Given the description of an element on the screen output the (x, y) to click on. 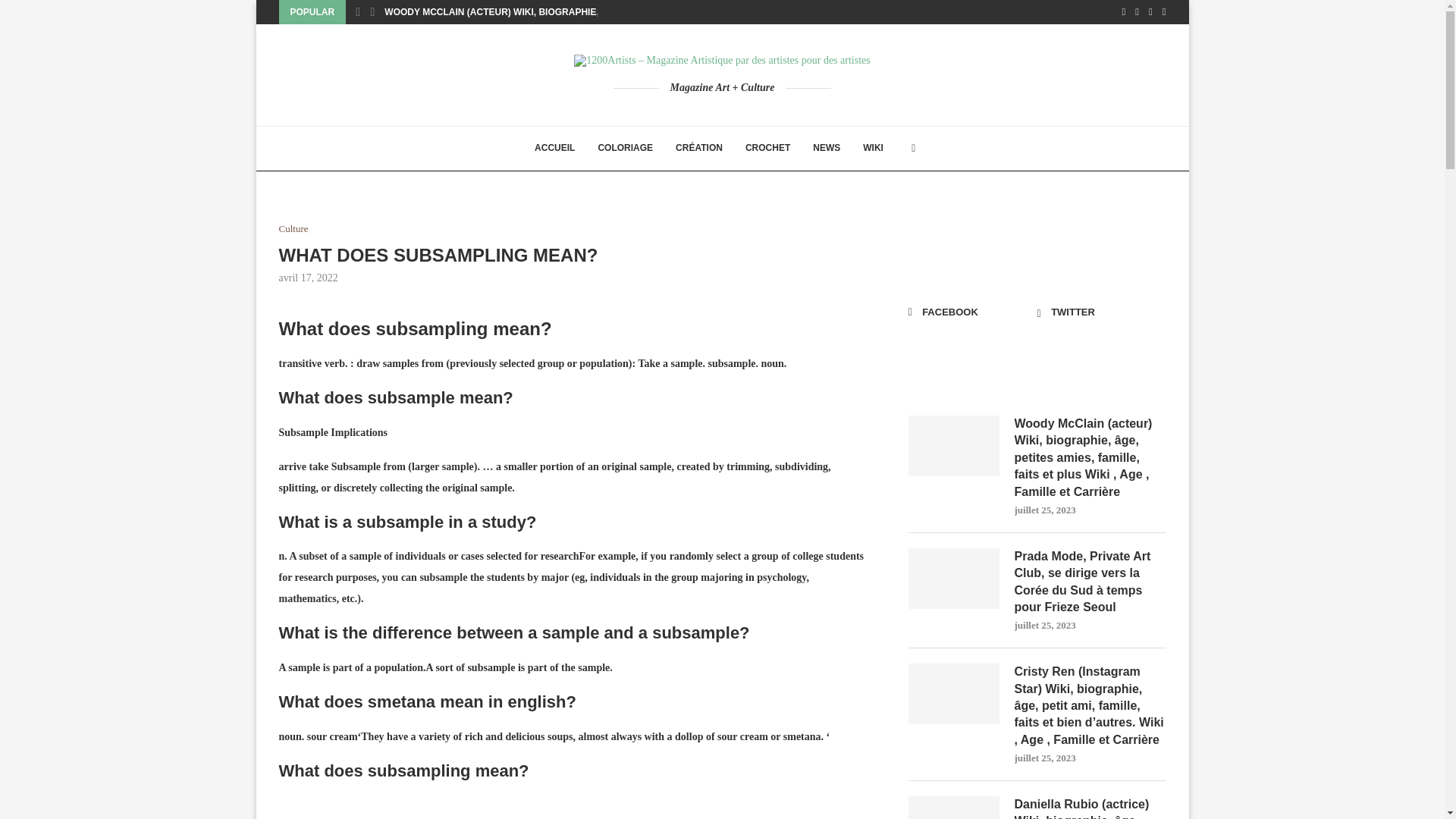
WIKI (873, 148)
ACCUEIL (554, 148)
CROCHET (767, 148)
What does subsampled mean? (722, 806)
Culture (293, 228)
NEWS (826, 148)
COLORIAGE (624, 148)
